Given the description of an element on the screen output the (x, y) to click on. 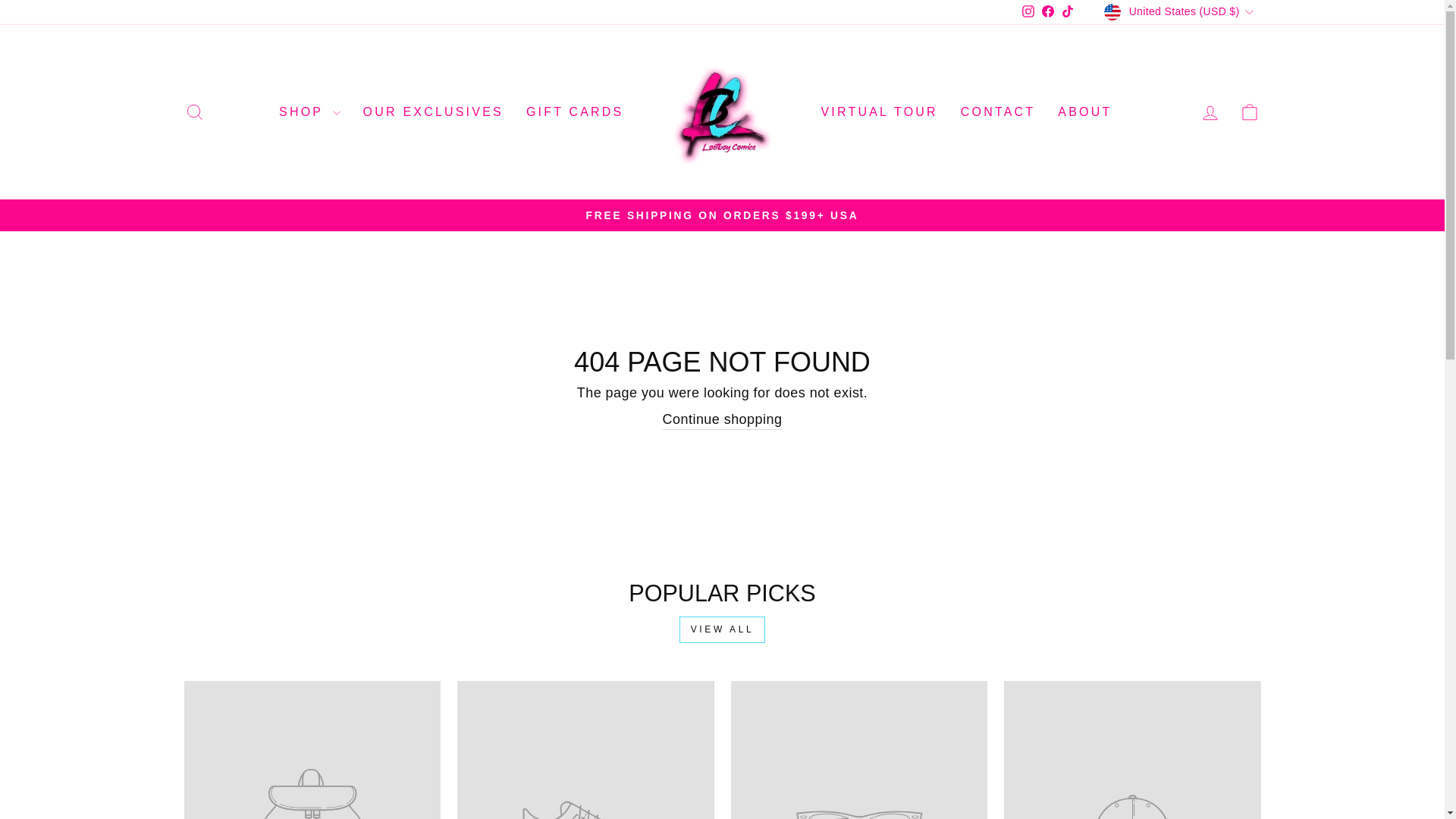
ICON-SEARCH (194, 111)
ICON-BAG-MINIMAL (1249, 111)
ACCOUNT (1210, 112)
instagram (1027, 10)
